Given the description of an element on the screen output the (x, y) to click on. 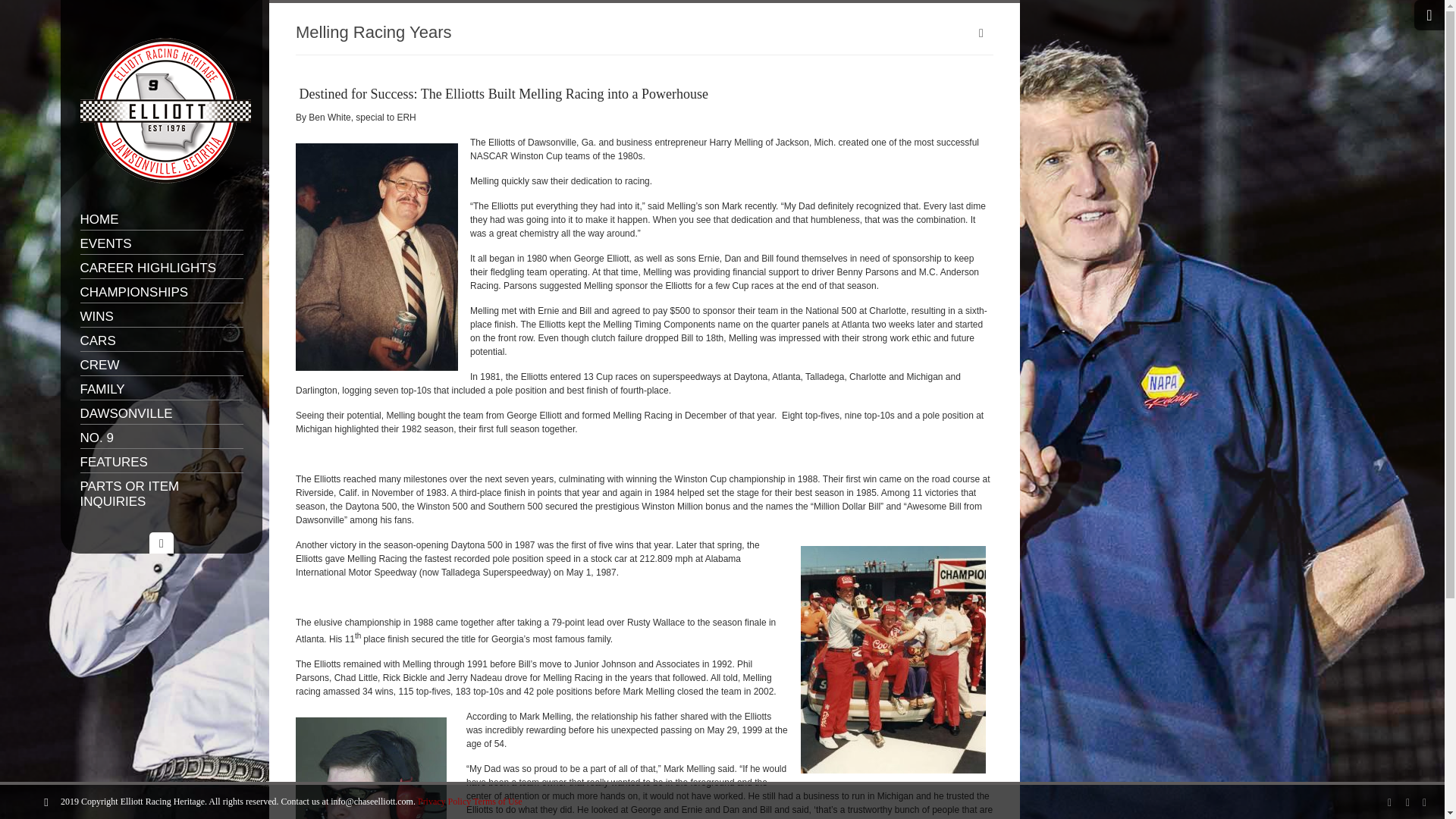
WINS (161, 316)
DAWSONVILLE (161, 413)
NO. 9 (161, 437)
FEATURES (161, 462)
HOME (161, 219)
PARTS OR ITEM INQUIRIES (161, 494)
FAMILY (161, 389)
EVENTS (161, 243)
CREW (161, 365)
CARS (161, 340)
CAREER HIGHLIGHTS (161, 268)
CHAMPIONSHIPS (161, 292)
